Given the description of an element on the screen output the (x, y) to click on. 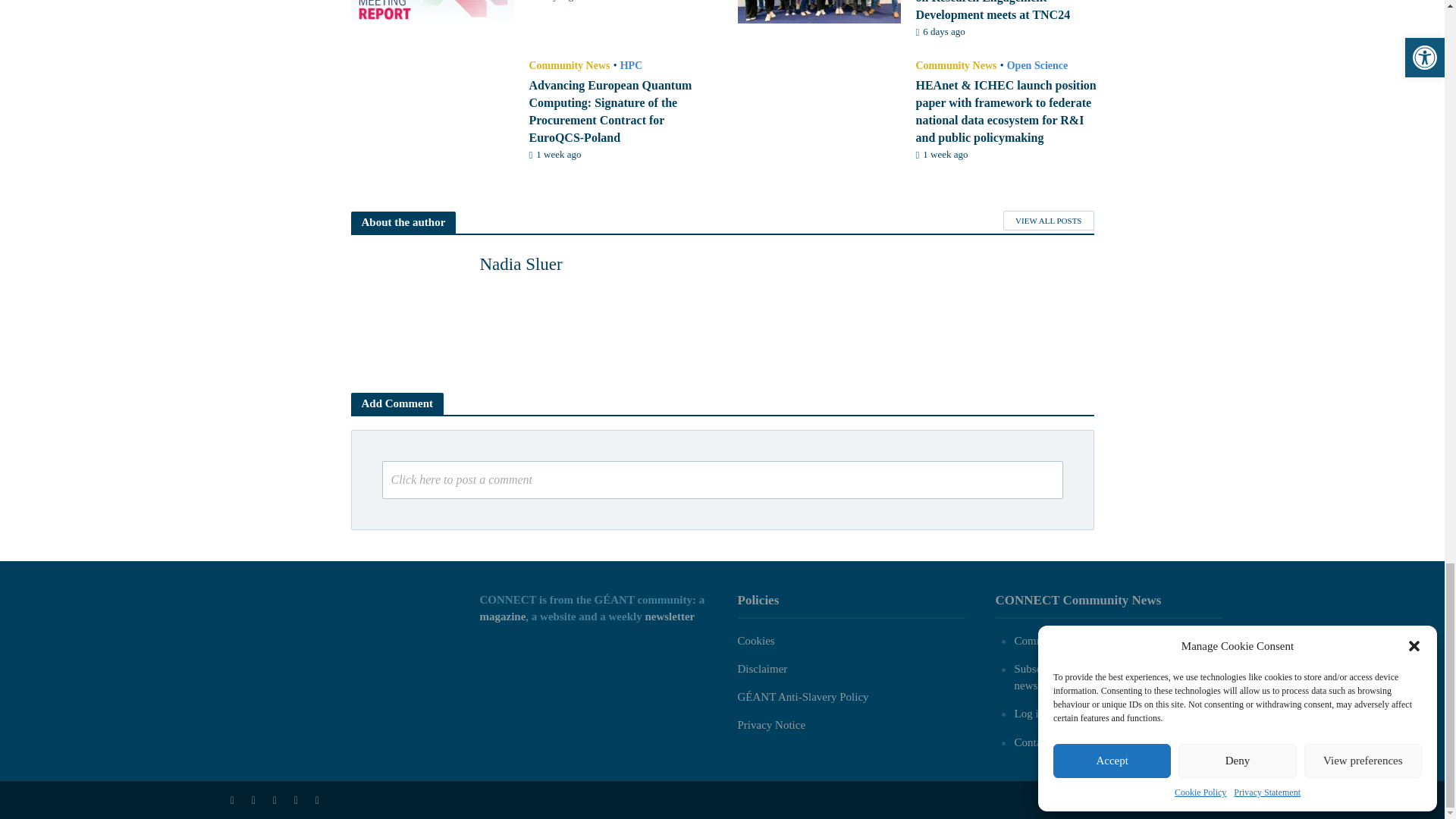
Privacy Notice (770, 725)
Cookies (755, 640)
Disclaimer (761, 668)
